Given the description of an element on the screen output the (x, y) to click on. 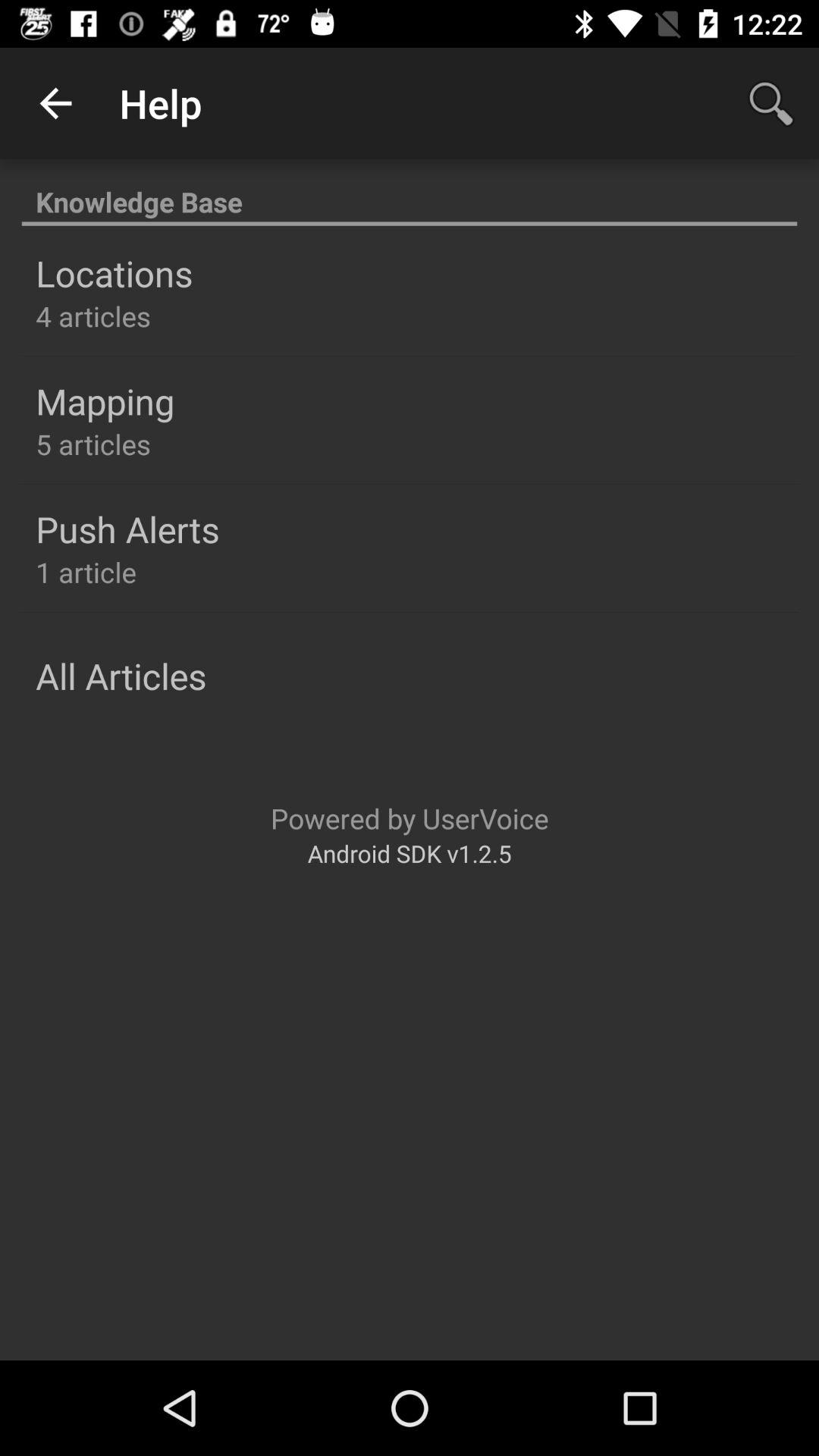
open item below all articles icon (409, 818)
